Given the description of an element on the screen output the (x, y) to click on. 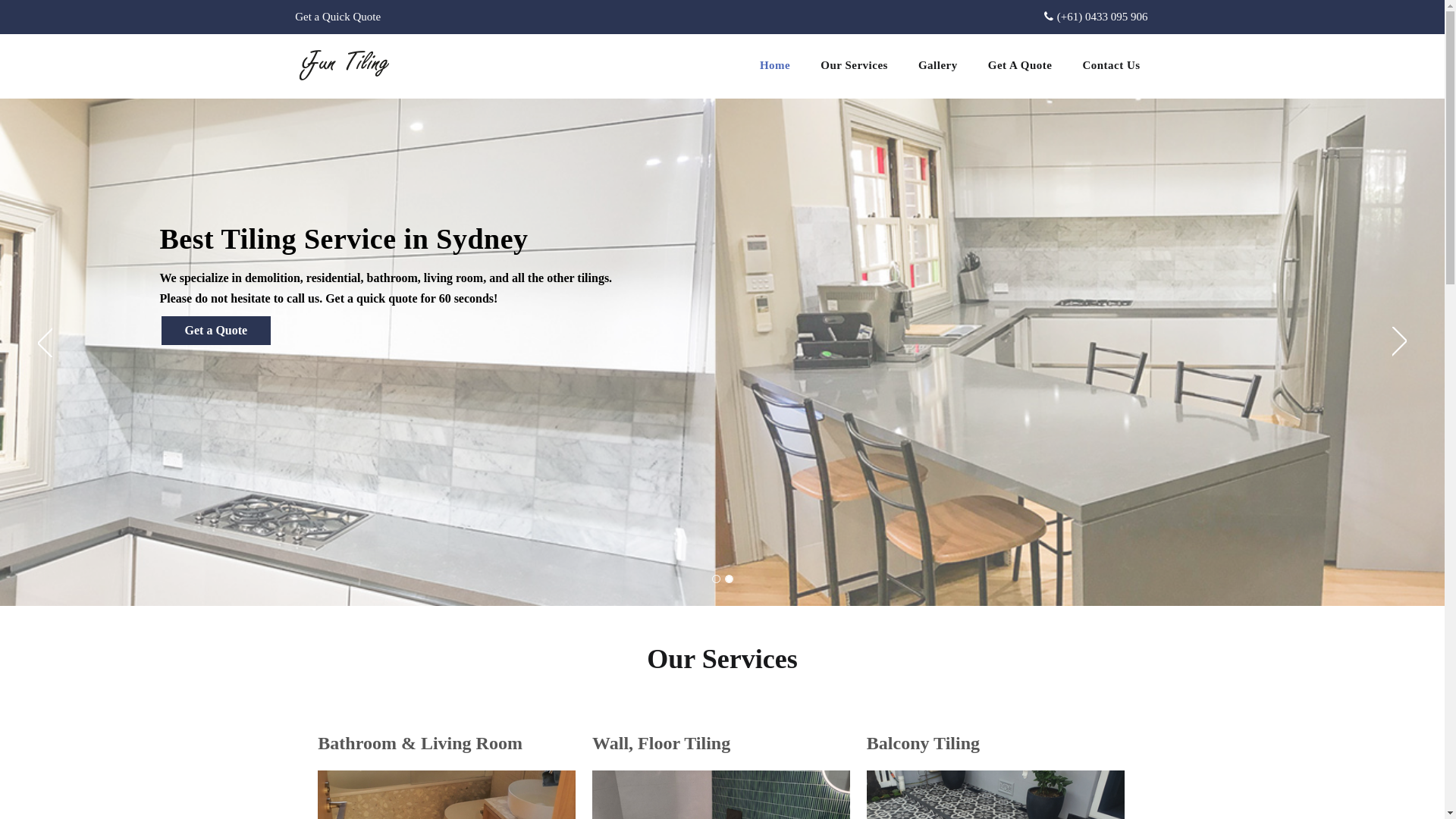
Home Element type: text (774, 65)
Bathroom & Living Room Element type: text (419, 743)
Our Services Element type: text (854, 65)
Next Element type: text (1399, 341)
Previous Element type: text (44, 341)
Balcony Tiling Element type: text (922, 743)
Contact Us Element type: text (1110, 65)
1 Element type: text (715, 578)
Get A Quote Element type: text (1019, 65)
Get a Quick Quote Element type: text (337, 16)
2 Element type: text (728, 578)
Get a Quote Element type: text (215, 330)
(+61) 0433 095 906 Element type: text (1095, 16)
Gallery Element type: text (937, 65)
Wall, Floor Tiling Element type: text (661, 743)
